Given the description of an element on the screen output the (x, y) to click on. 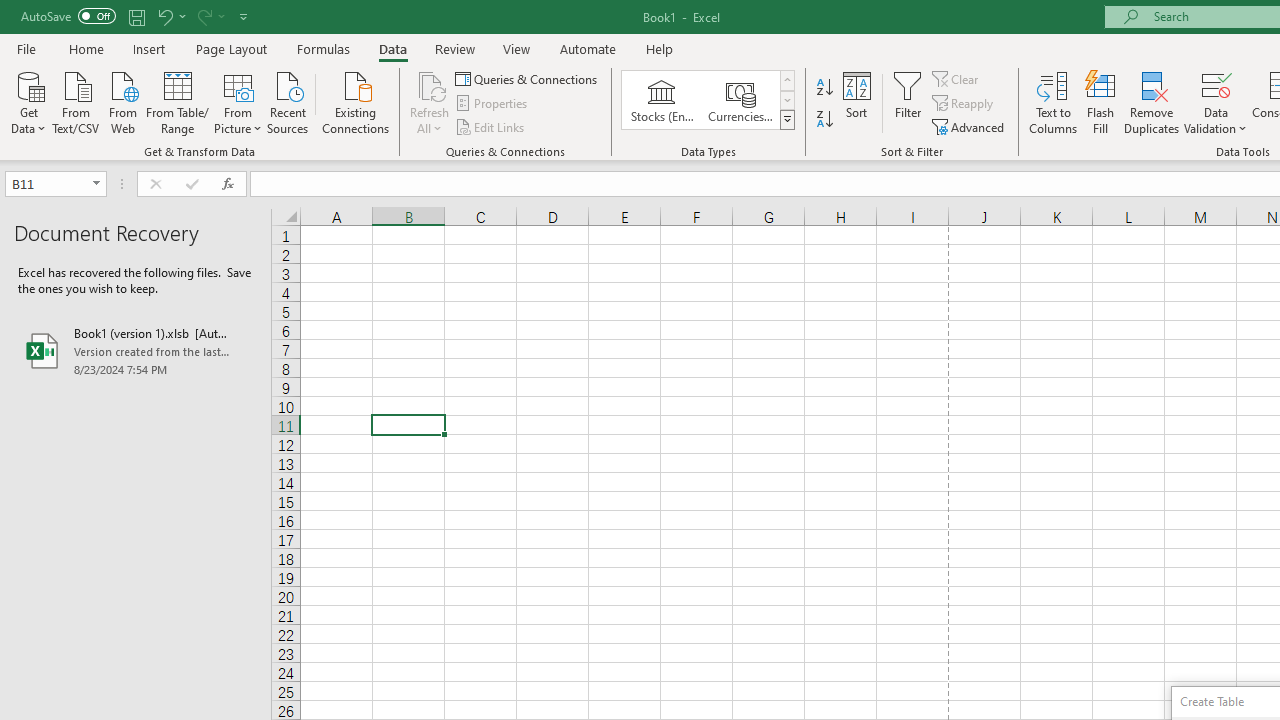
Recent Sources (287, 101)
From Text/CSV (75, 101)
From Table/Range (177, 101)
Data Types (786, 120)
From Picture (238, 101)
Advanced... (970, 126)
Sort Z to A (824, 119)
